Given the description of an element on the screen output the (x, y) to click on. 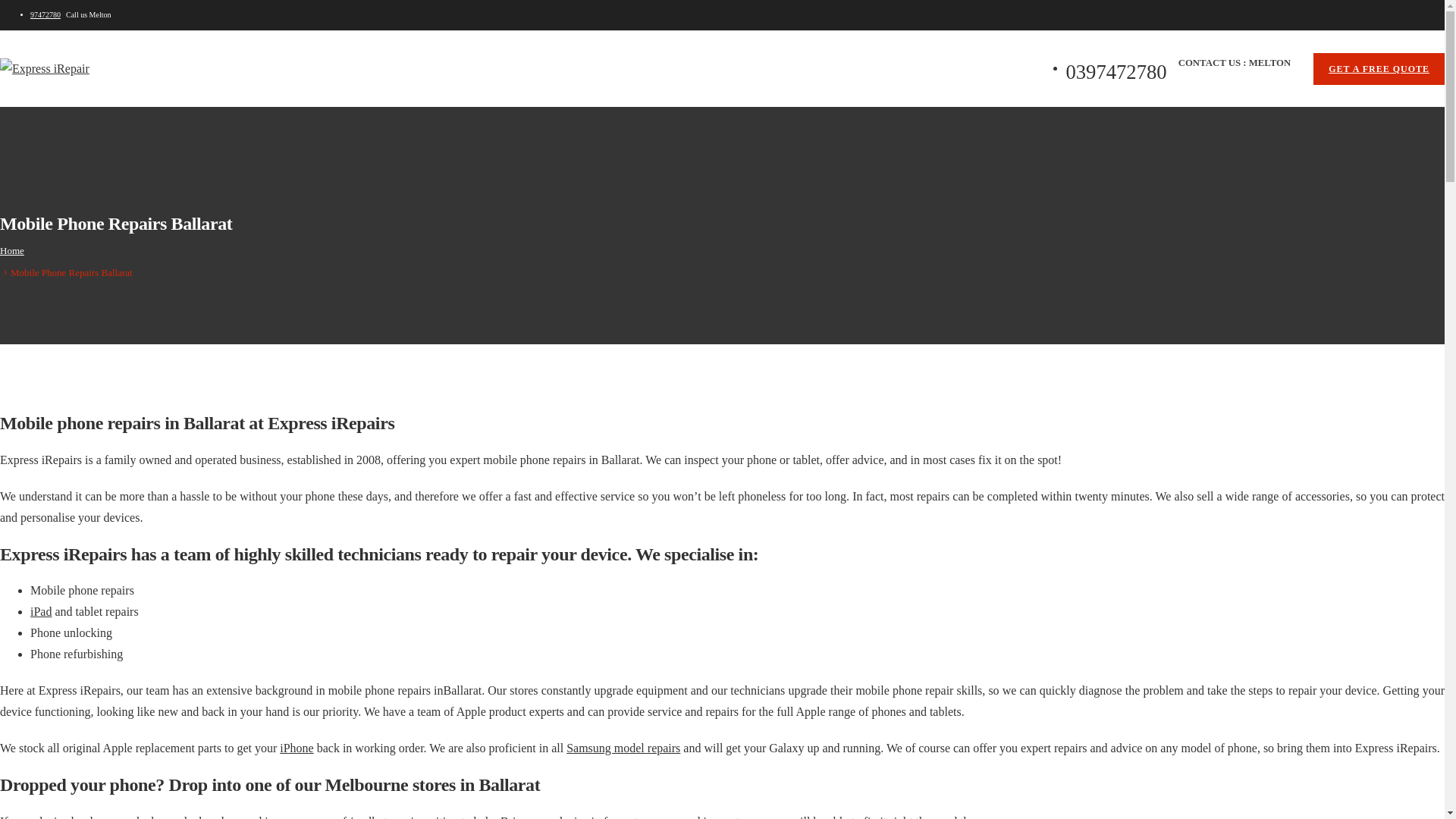
ABOUT US Element type: text (117, 129)
Samsung model repairs Element type: text (623, 747)
OUR LOCATIONS Element type: text (279, 129)
GET A FREE QUOTE Element type: text (1378, 68)
Express iRepair Element type: hover (44, 68)
iPad Element type: text (40, 611)
SERVICES Element type: text (191, 129)
97472780 Element type: text (45, 14)
0397472780 Element type: text (510, 129)
iPhone Element type: text (296, 747)
Home Element type: text (12, 250)
BLOG Element type: text (358, 129)
CONTACT US Element type: text (429, 129)
HOME Element type: text (52, 129)
